Given the description of an element on the screen output the (x, y) to click on. 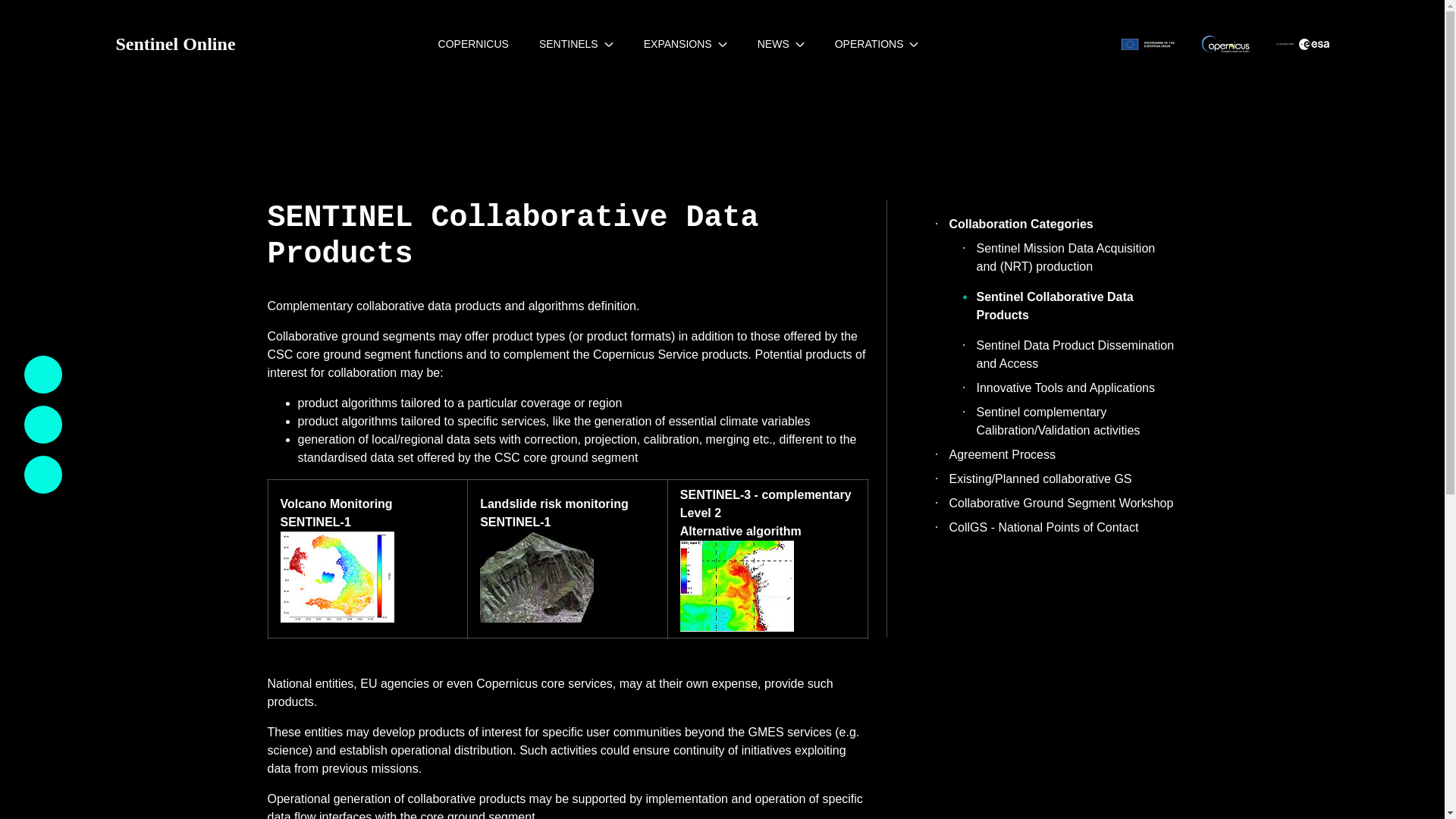
Skip to Main Content (5, 5)
Sentinel Online (174, 43)
Sentinel Online (174, 43)
COPERNICUS (473, 43)
